Given the description of an element on the screen output the (x, y) to click on. 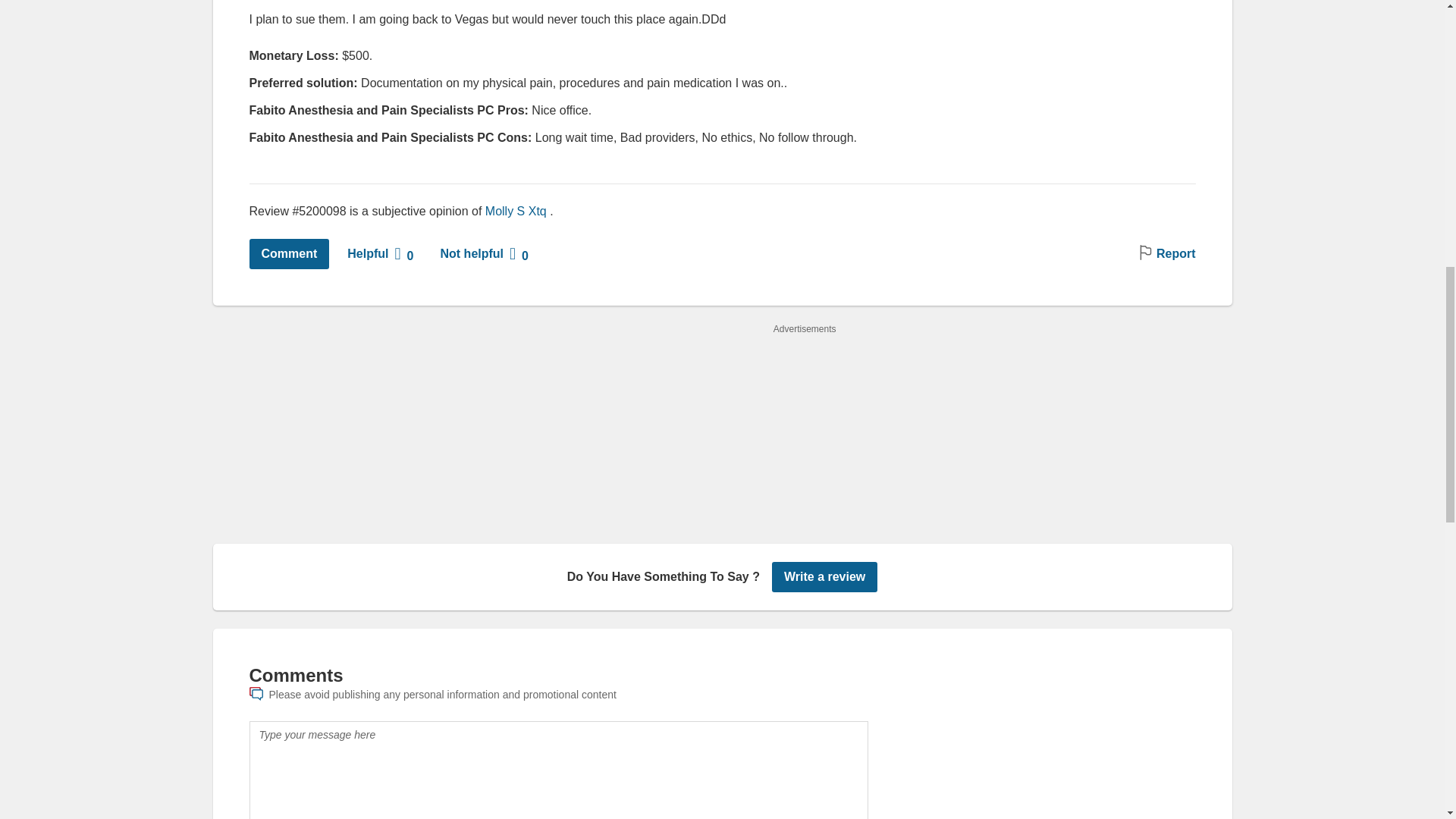
Molly S Xtq (515, 210)
Write a review (824, 576)
Comment (288, 254)
Molly S Xtq - Profile Info (515, 210)
